Given the description of an element on the screen output the (x, y) to click on. 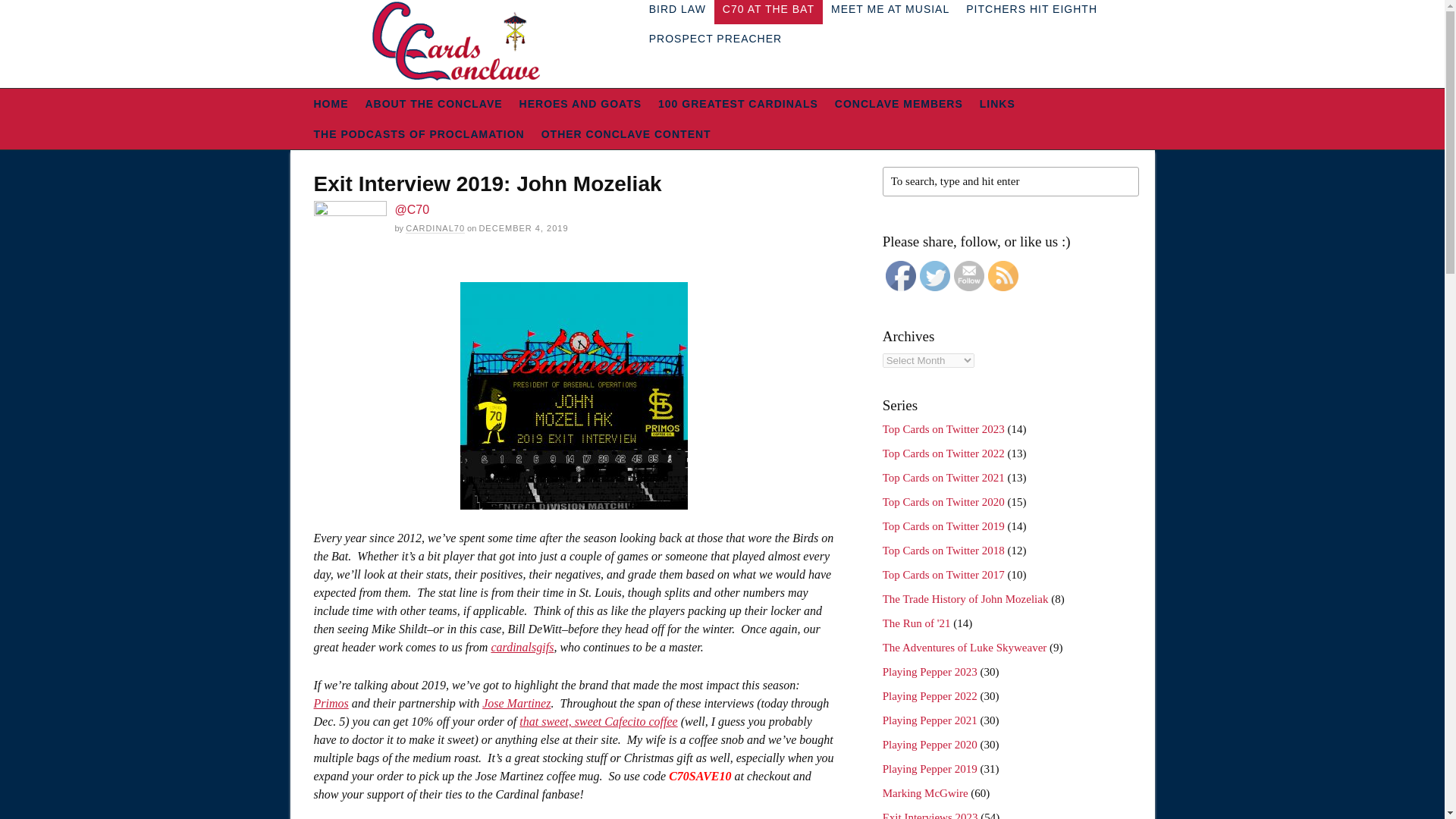
HEROES AND GOATS (580, 103)
THE PODCASTS OF PROCLAMATION (418, 133)
BIRD LAW (677, 12)
MEET ME AT MUSIAL (890, 12)
OTHER CONCLAVE CONTENT (625, 133)
100 GREATEST CARDINALS (738, 103)
cardinalsgifs (521, 646)
Follow by Email (968, 276)
PITCHERS HIT EIGHTH (1031, 12)
To search, type and hit enter (1010, 181)
Facebook (900, 276)
HOME (330, 103)
Twitter (935, 276)
LINKS (997, 103)
C70 AT THE BAT (768, 12)
